Given the description of an element on the screen output the (x, y) to click on. 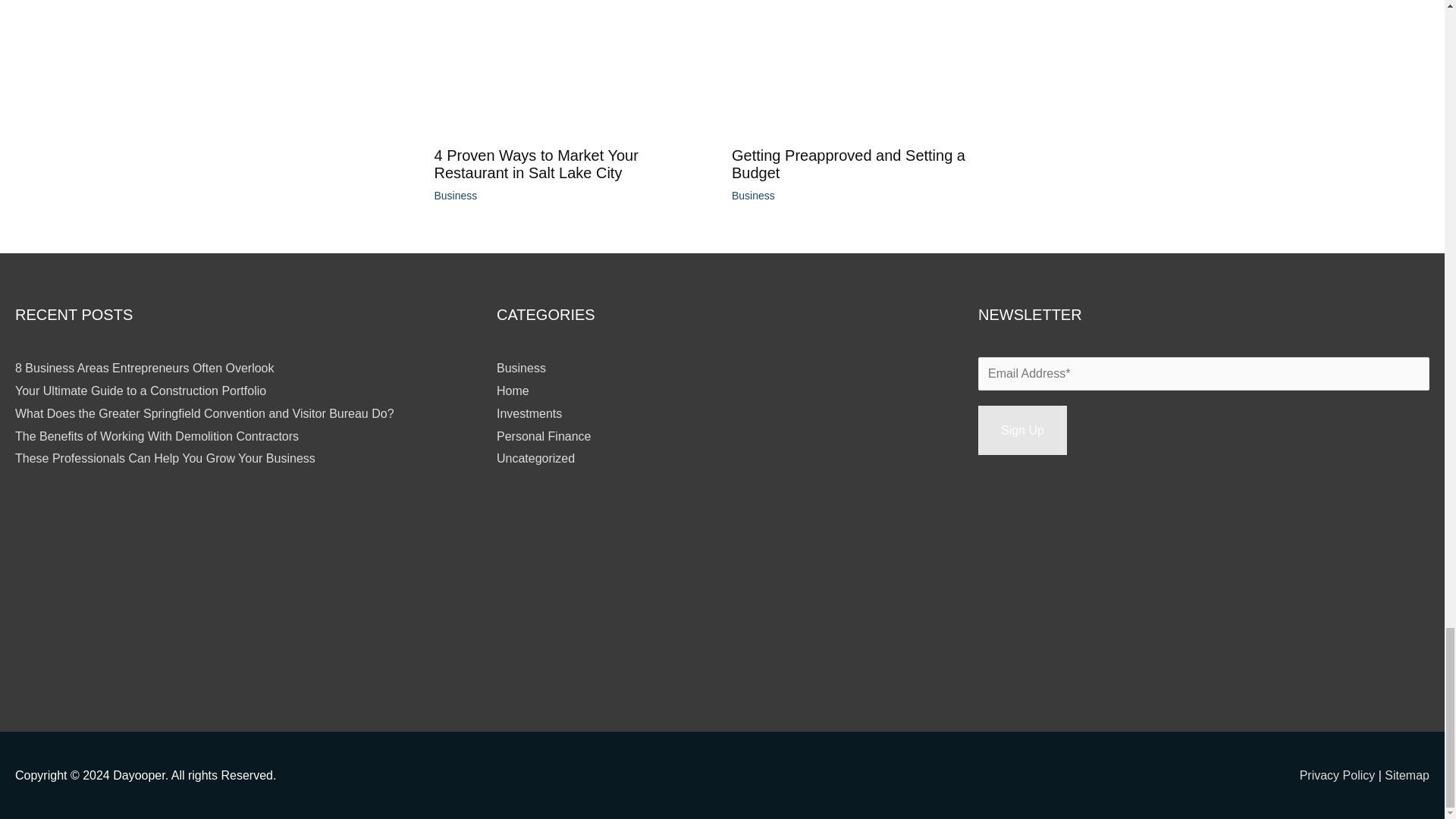
Your Ultimate Guide to a Construction Portfolio (140, 390)
Sign Up (1022, 430)
Sitemap (1406, 775)
Business (521, 367)
Uncategorized (535, 458)
Investments (529, 413)
Business (753, 195)
Privacy Policy (1339, 775)
4 Proven Ways to Market Your Restaurant in Salt Lake City (535, 163)
Personal Finance (543, 436)
